Given the description of an element on the screen output the (x, y) to click on. 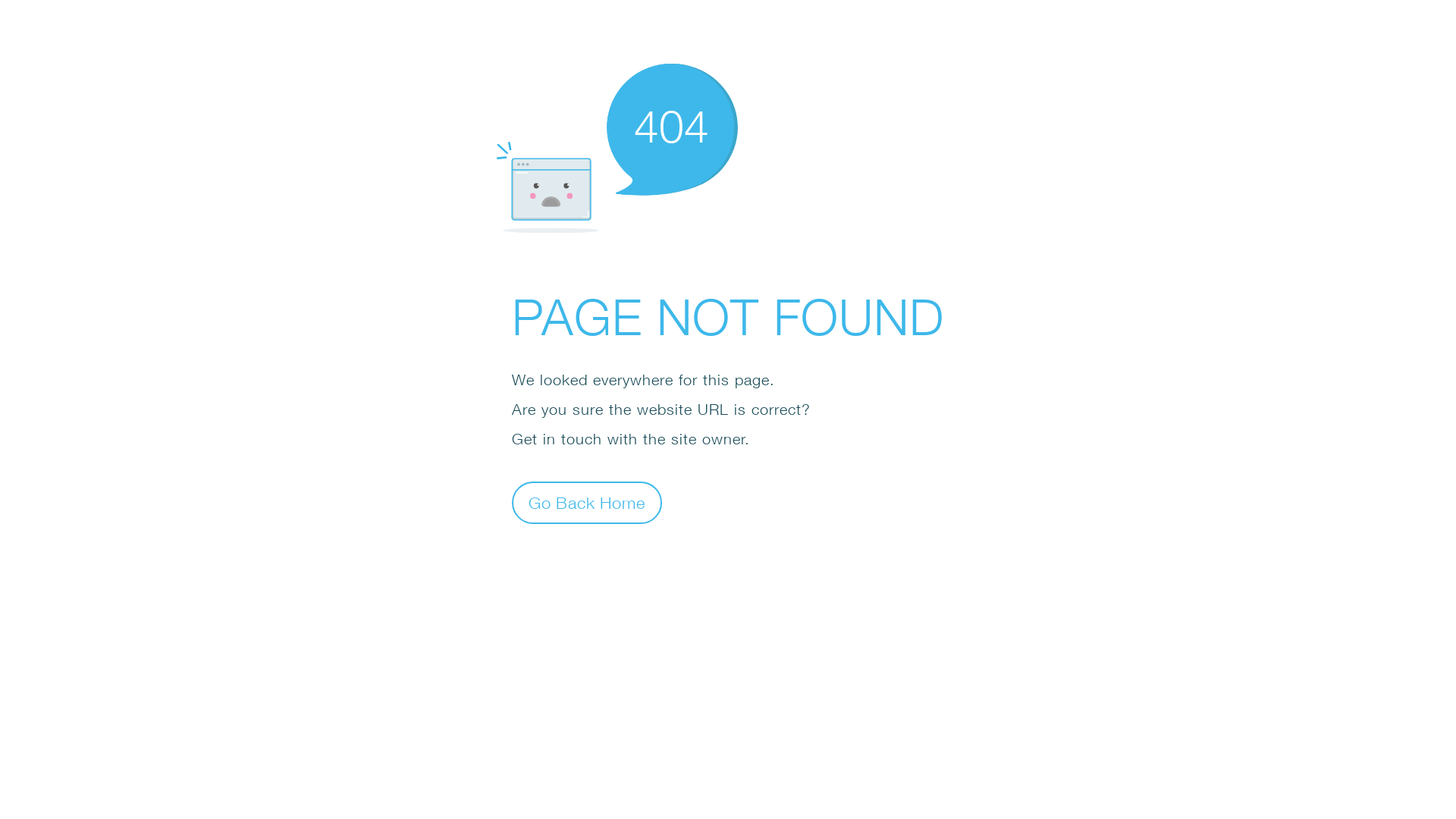
Go Back Home Element type: text (586, 502)
